Given the description of an element on the screen output the (x, y) to click on. 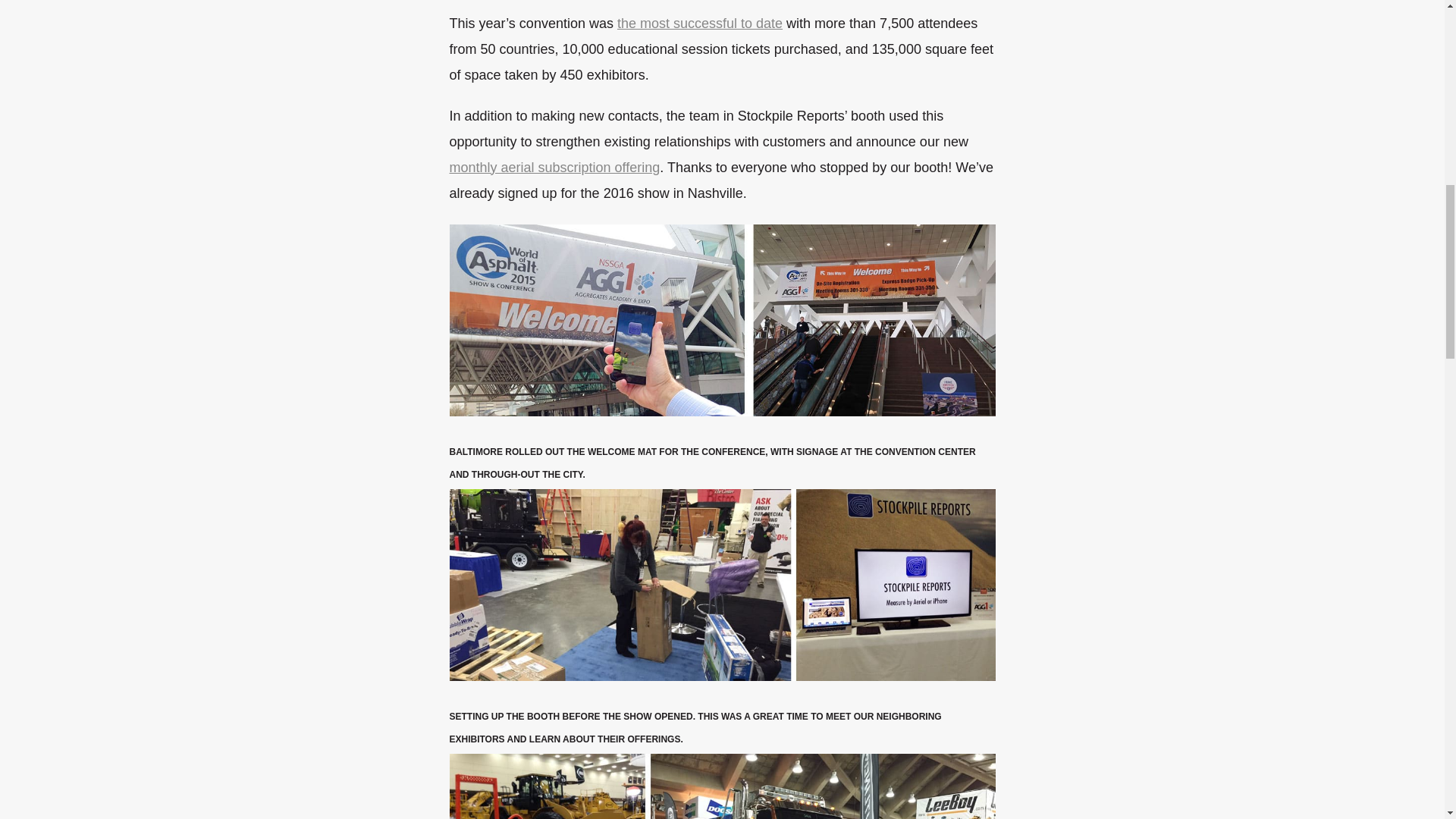
the most successful to date (700, 22)
Construction Show Website (700, 22)
Monthly Aerial Measurements Now Offered by Stockpile Reports (553, 166)
monthly aerial subscription offering (553, 166)
